Given the description of an element on the screen output the (x, y) to click on. 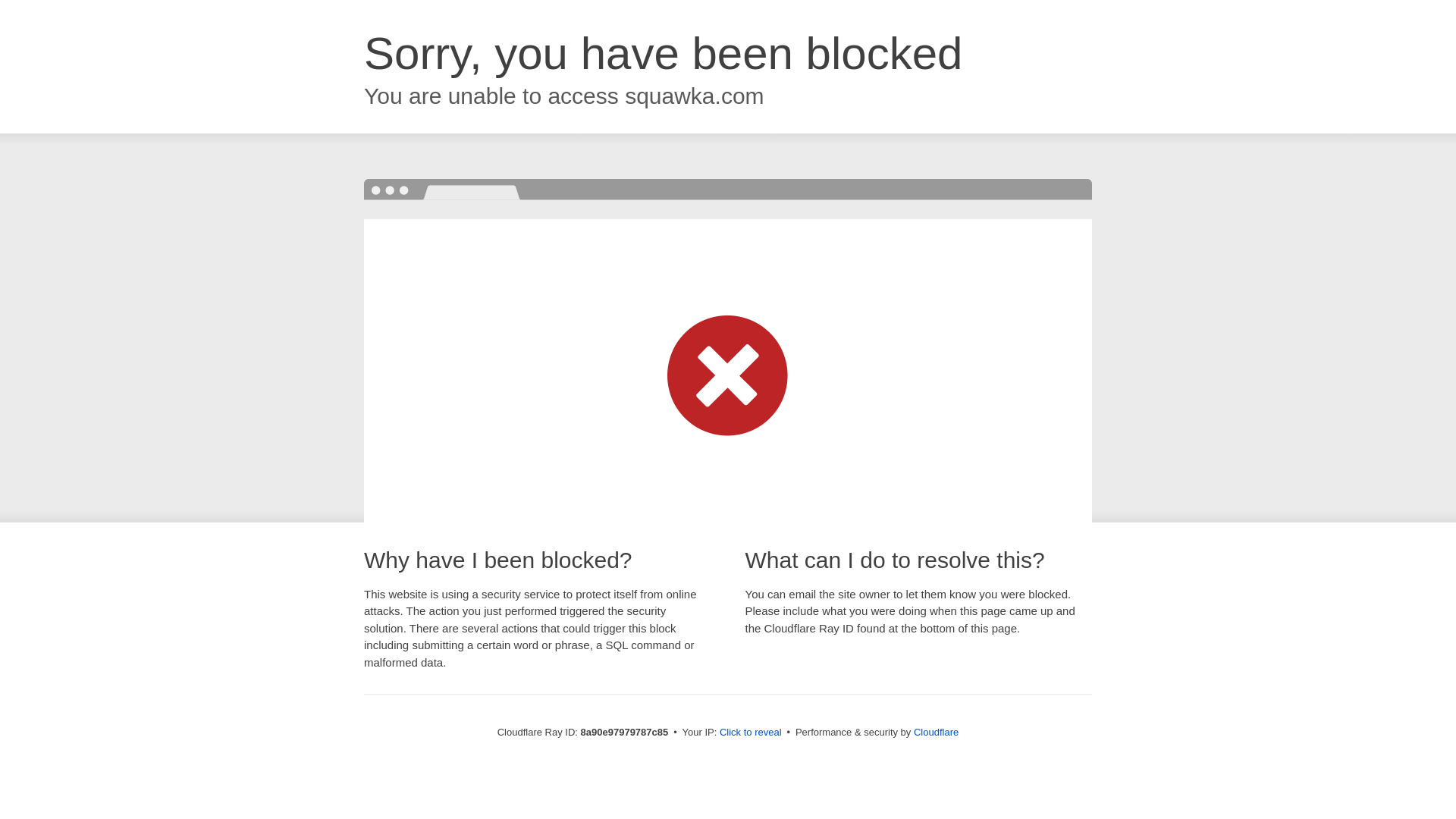
Click to reveal (750, 732)
Cloudflare (936, 731)
